Given the description of an element on the screen output the (x, y) to click on. 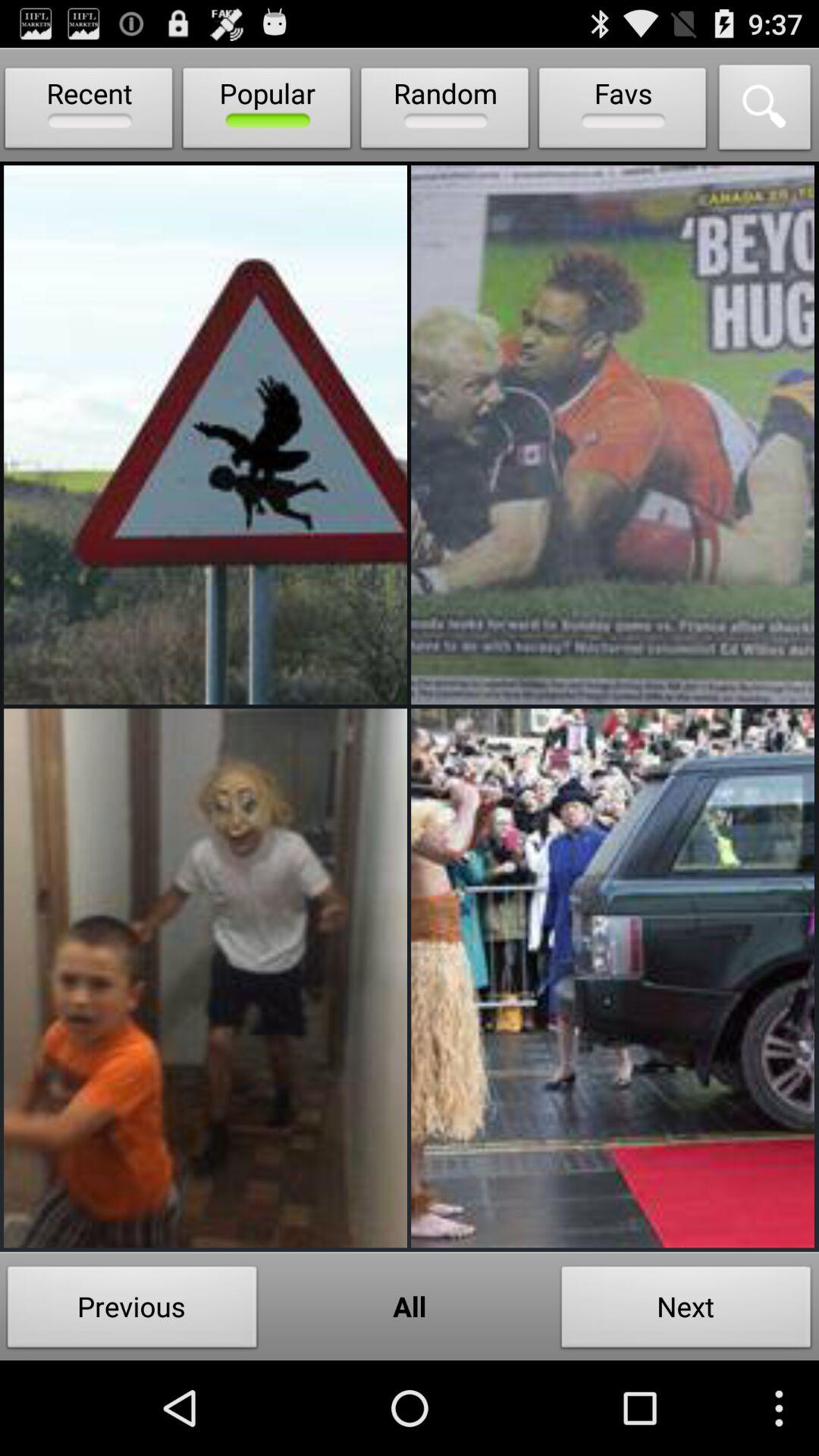
turn on icon next to the favs (445, 111)
